Given the description of an element on the screen output the (x, y) to click on. 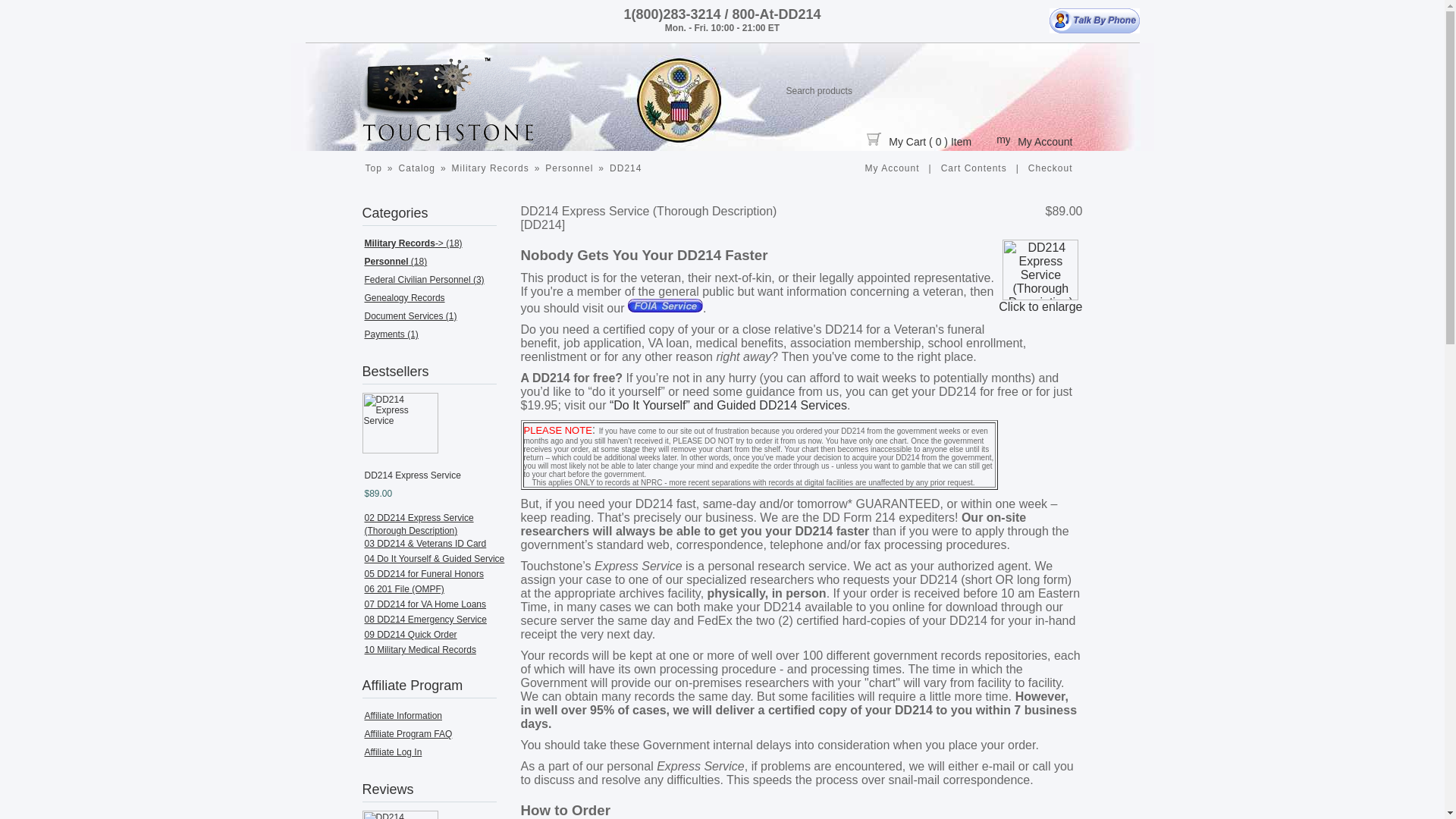
Top (373, 168)
Catalog (417, 168)
Checkout (1050, 168)
DD214 (625, 168)
Cart Contents (973, 168)
Affiliate Log In (393, 751)
 DD214 Express Service  (400, 423)
Military Records (490, 168)
08 DD214 Emergency Service (425, 619)
09 DD214 Quick Order (410, 634)
My Account (891, 168)
Affiliate Information (403, 715)
Genealogy Records (404, 297)
Search products (895, 89)
My Account (1033, 140)
